Given the description of an element on the screen output the (x, y) to click on. 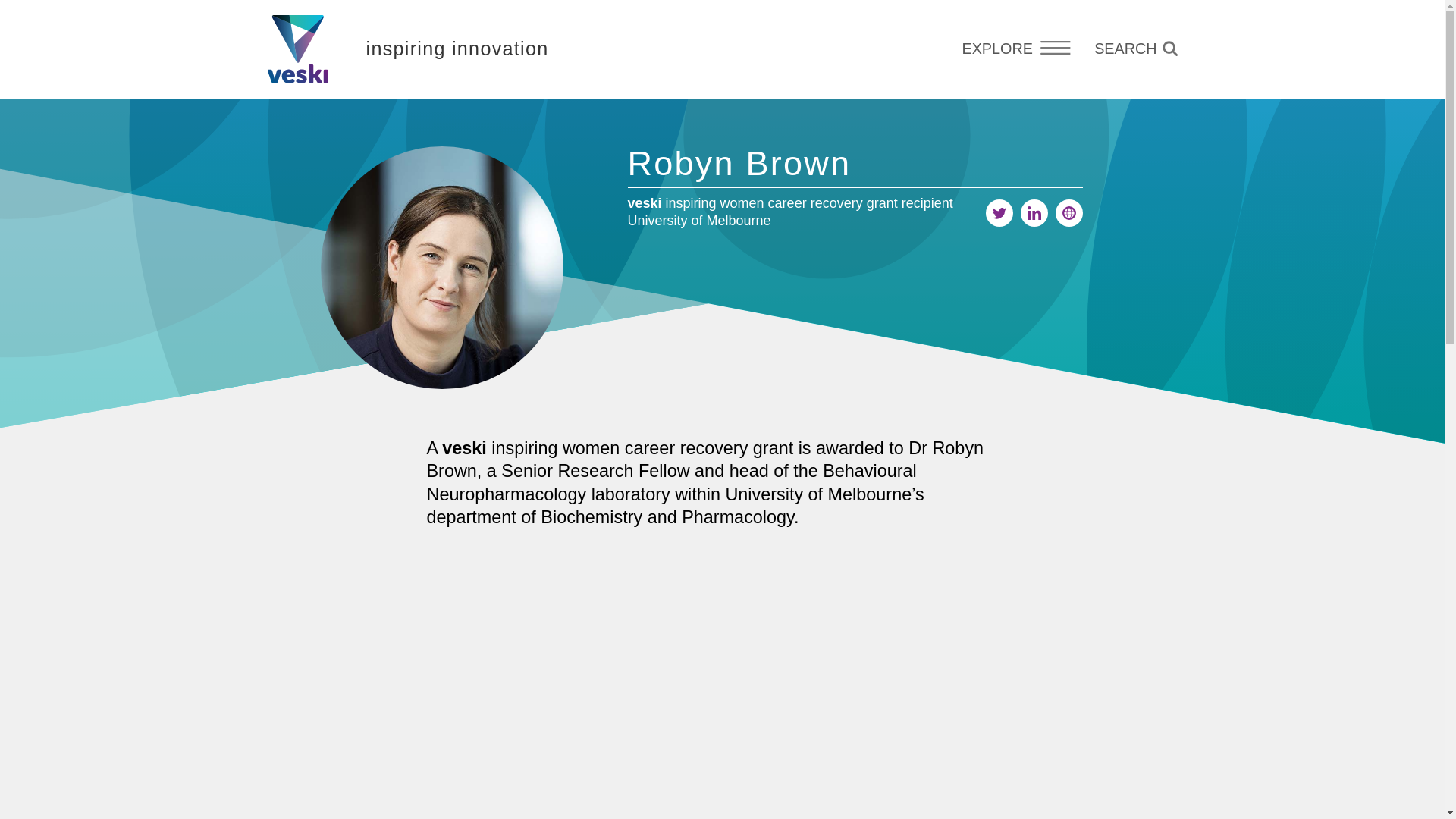
Web link (1069, 212)
EXPLORE (1015, 48)
Twitter profile (999, 212)
Link to homepage (296, 49)
SEARCH (1135, 48)
LinkedIn profile (1034, 212)
